Given the description of an element on the screen output the (x, y) to click on. 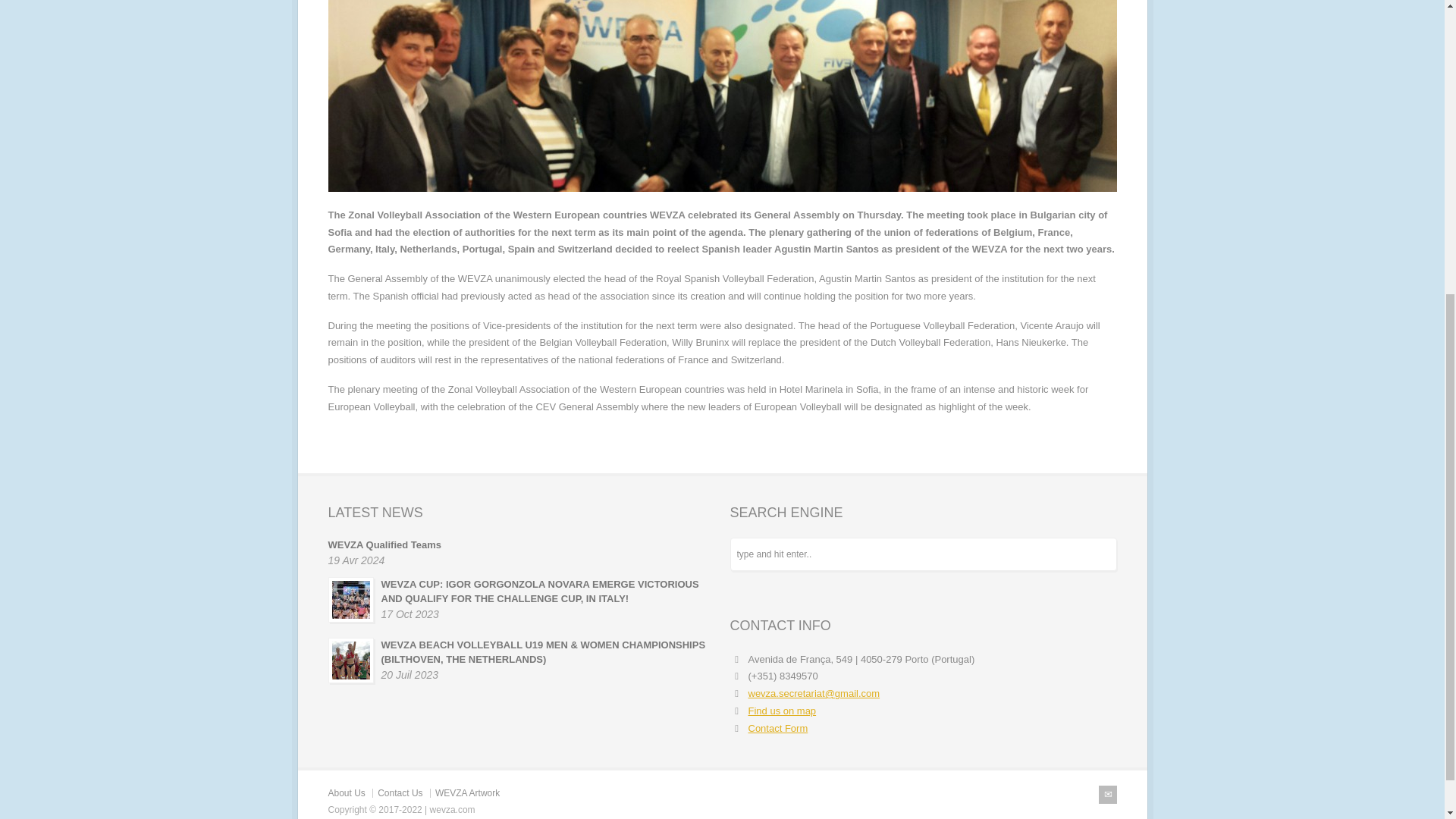
WEVZA Qualified Teams (384, 544)
WEVZA Artwork (467, 792)
Find us on map (781, 710)
Contact Us (399, 792)
About Us (346, 792)
Contact Form (778, 727)
Contact Form (778, 727)
Find us on map (781, 710)
